Given the description of an element on the screen output the (x, y) to click on. 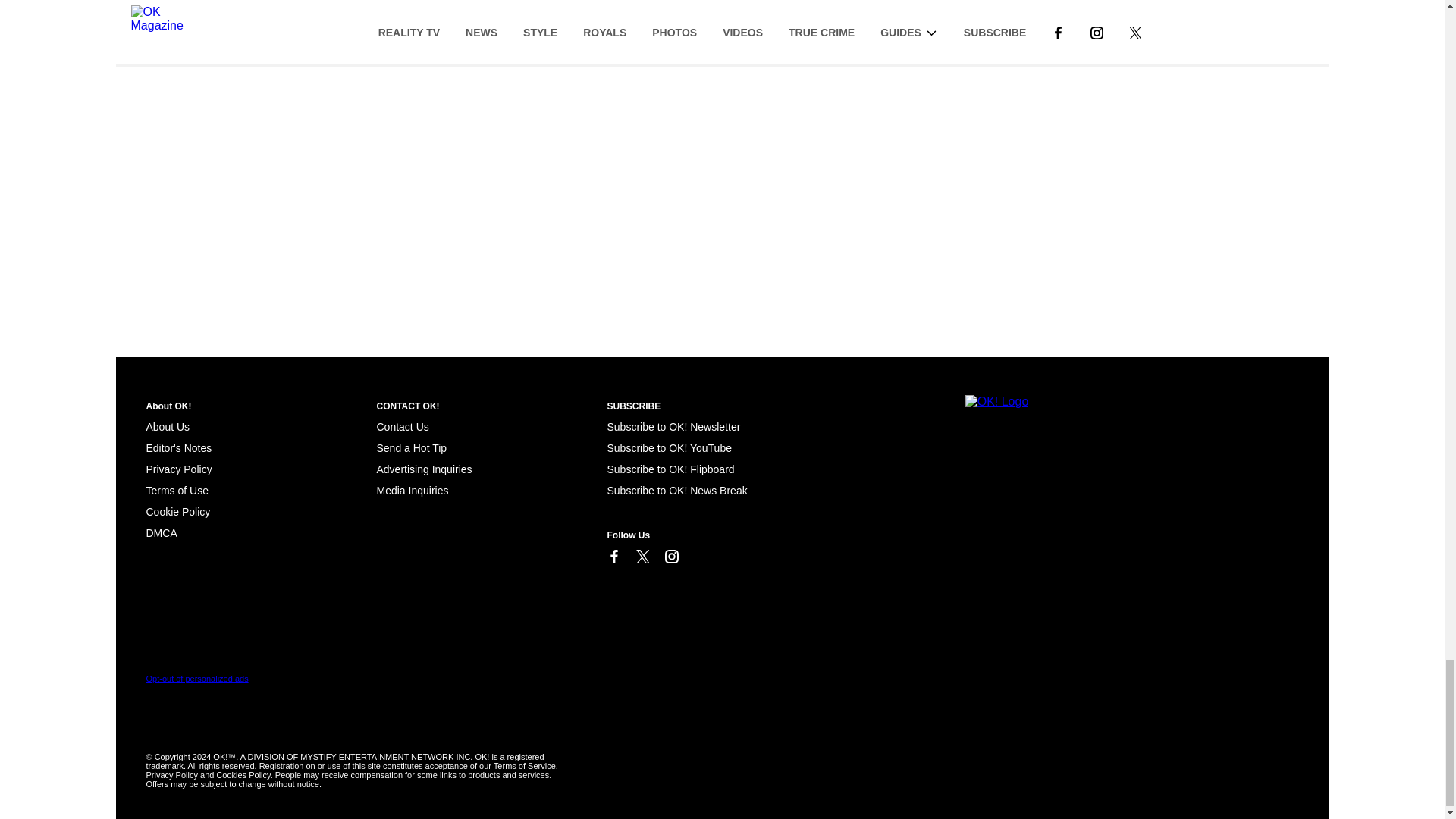
Link to Facebook (613, 556)
Editor's Notes (178, 448)
Link to X (641, 556)
Send a Hot Tip (410, 448)
Contact Us (401, 426)
Cookie Policy (160, 532)
Cookie Policy (177, 511)
Terms of Use (176, 490)
Privacy Policy (178, 469)
About Us (167, 426)
Link to Instagram (670, 556)
